Given the description of an element on the screen output the (x, y) to click on. 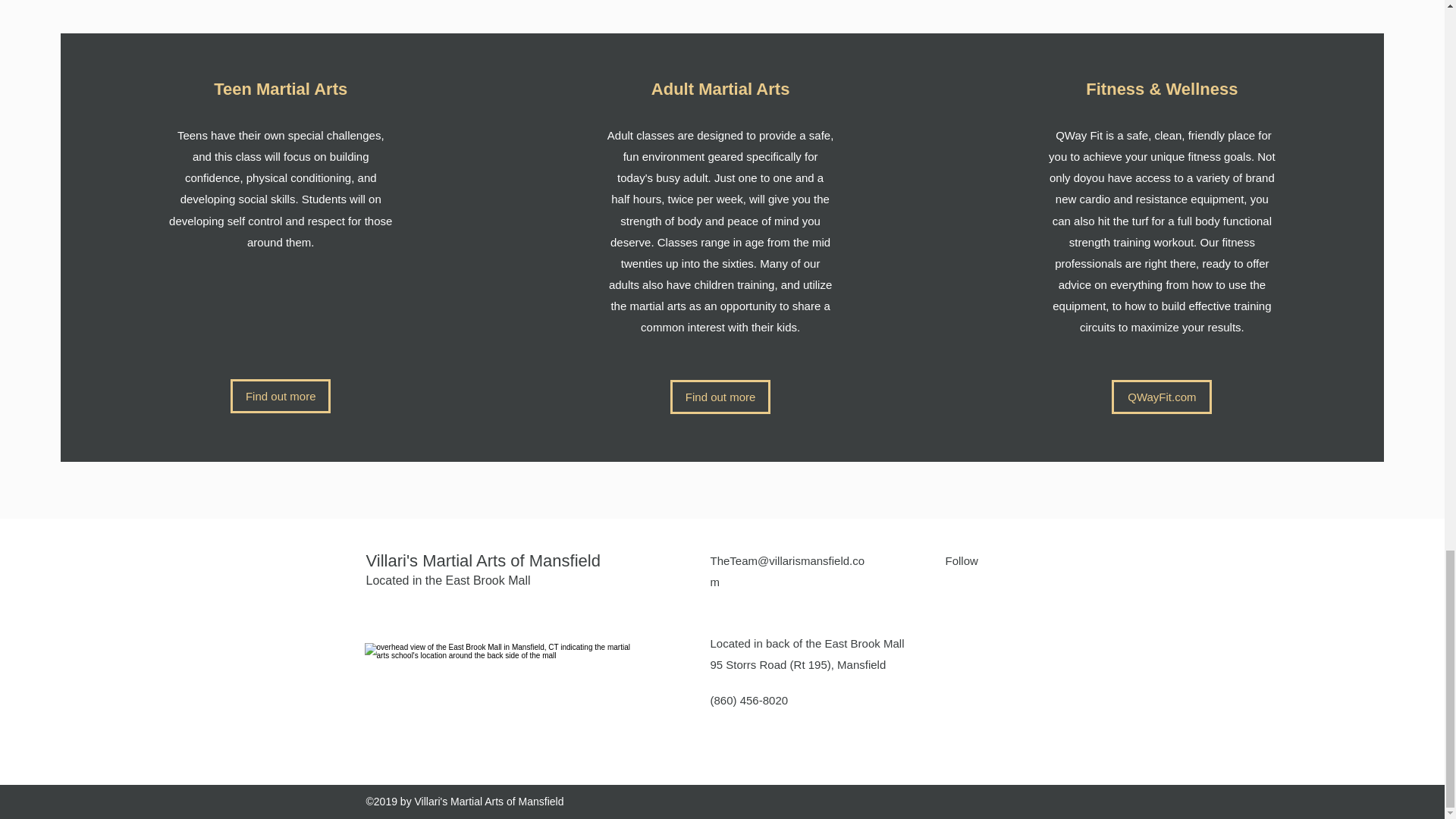
Find out more (280, 396)
QWayFit.com (1161, 397)
Villari's Martial Arts of Mansfield (482, 560)
Find out more (719, 397)
